Given the description of an element on the screen output the (x, y) to click on. 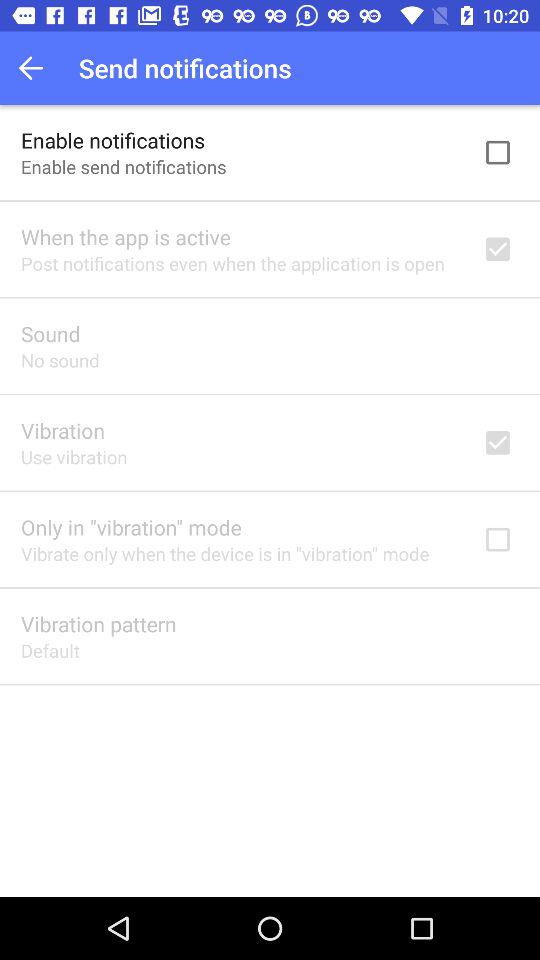
press the item below vibration pattern icon (50, 650)
